Given the description of an element on the screen output the (x, y) to click on. 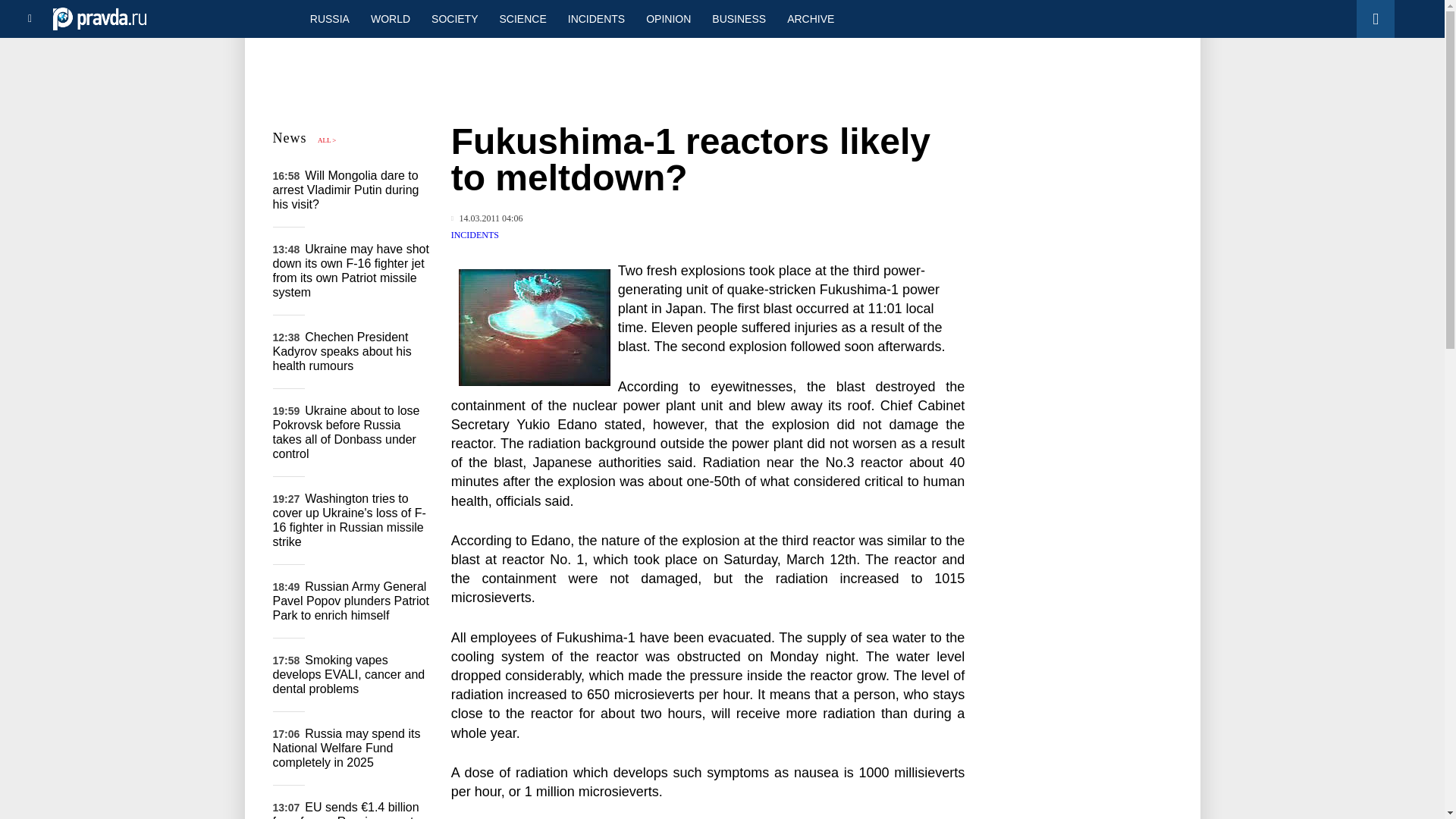
WORLD (389, 18)
Smoking vapes develops EVALI, cancer and dental problems (349, 674)
Published (486, 218)
INCIDENTS (475, 235)
INCIDENTS (595, 18)
OPINION (667, 18)
BUSINESS (738, 18)
